Given the description of an element on the screen output the (x, y) to click on. 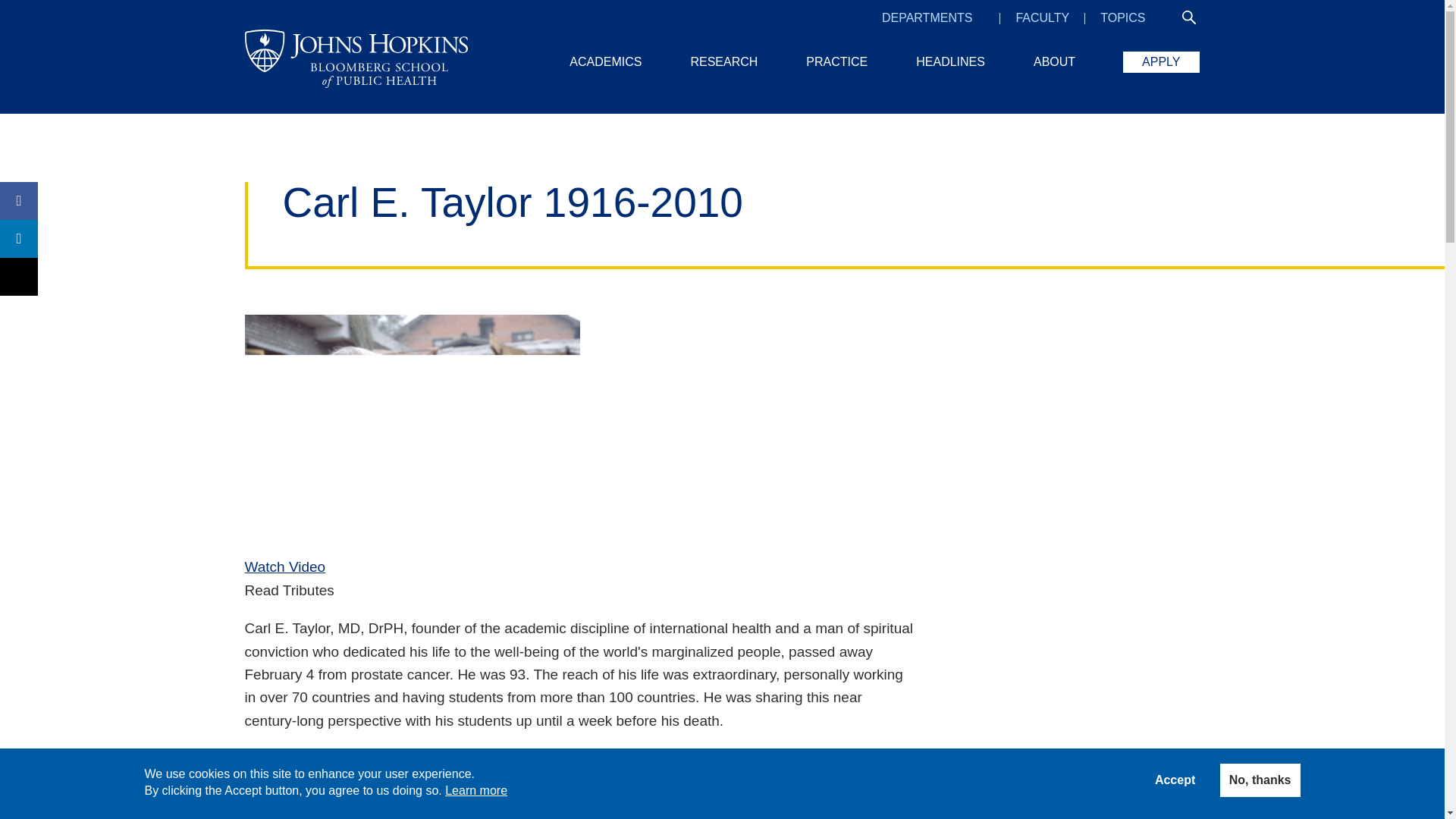
Share on LinkedIn (18, 238)
Share on Twitter (18, 276)
Watch Video (284, 566)
RESEARCH (723, 61)
TOPICS (1123, 17)
HEADLINES (950, 61)
ACADEMICS (605, 61)
Share on Facebook (18, 200)
FACULTY (1041, 17)
